Given the description of an element on the screen output the (x, y) to click on. 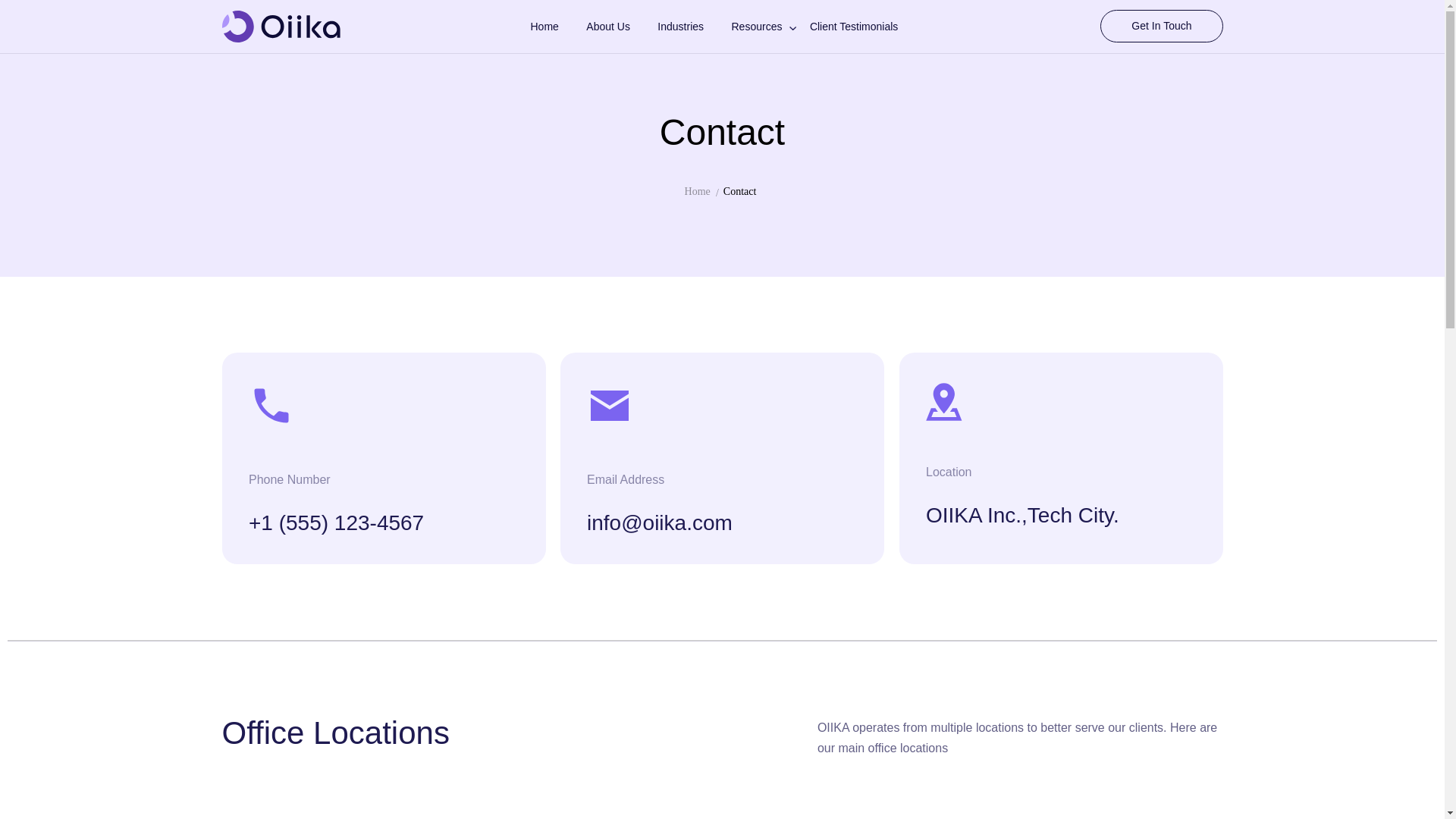
Resources (768, 26)
About Us (619, 26)
Home (555, 26)
Industries (693, 26)
Get In Touch (1161, 25)
Client Testimonials (865, 26)
